Given the description of an element on the screen output the (x, y) to click on. 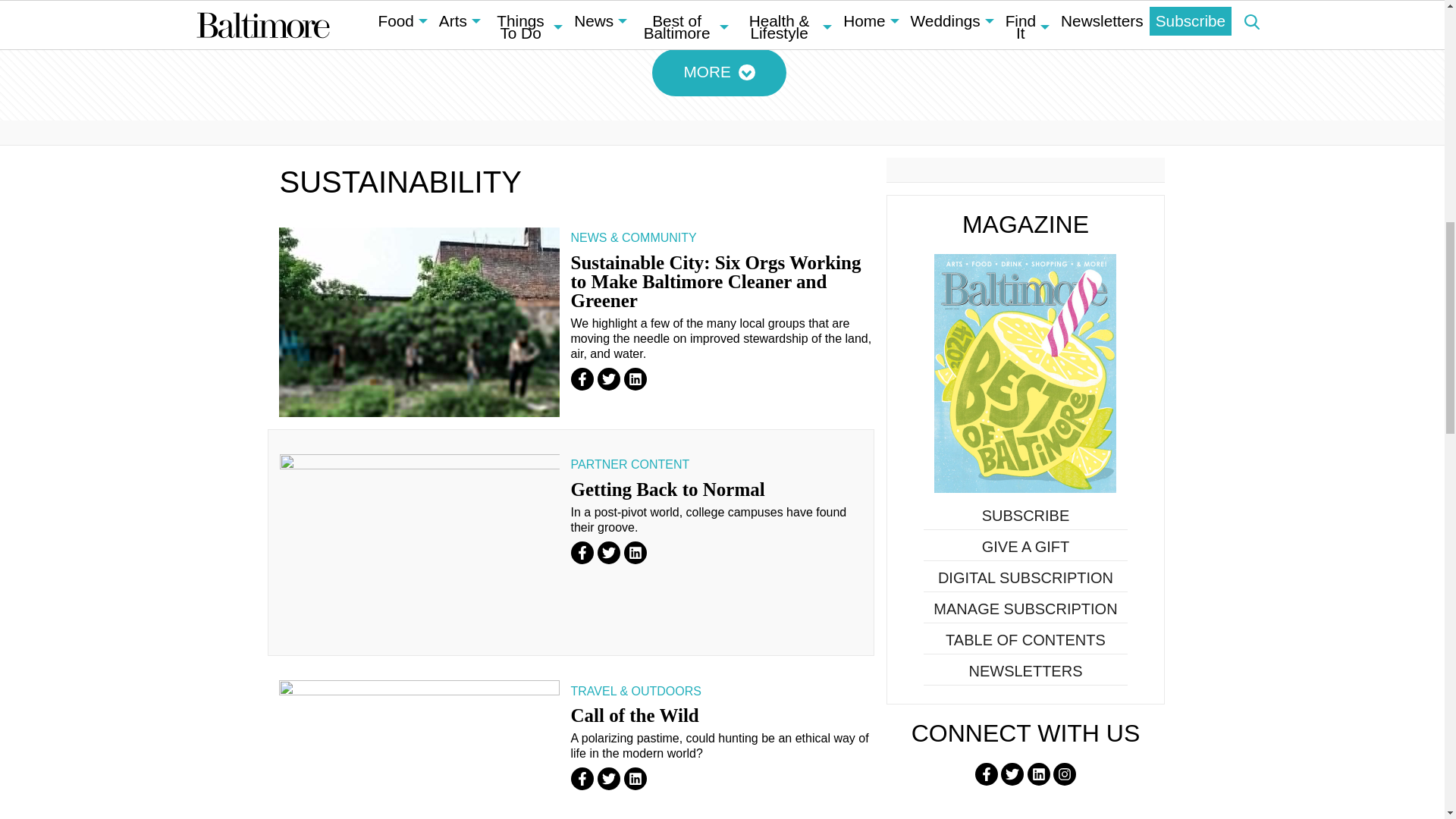
Call of the Wild (419, 749)
Read more from Partner Content (629, 463)
Getting Back to Normal (419, 548)
Getting Back to Normal (667, 489)
